Given the description of an element on the screen output the (x, y) to click on. 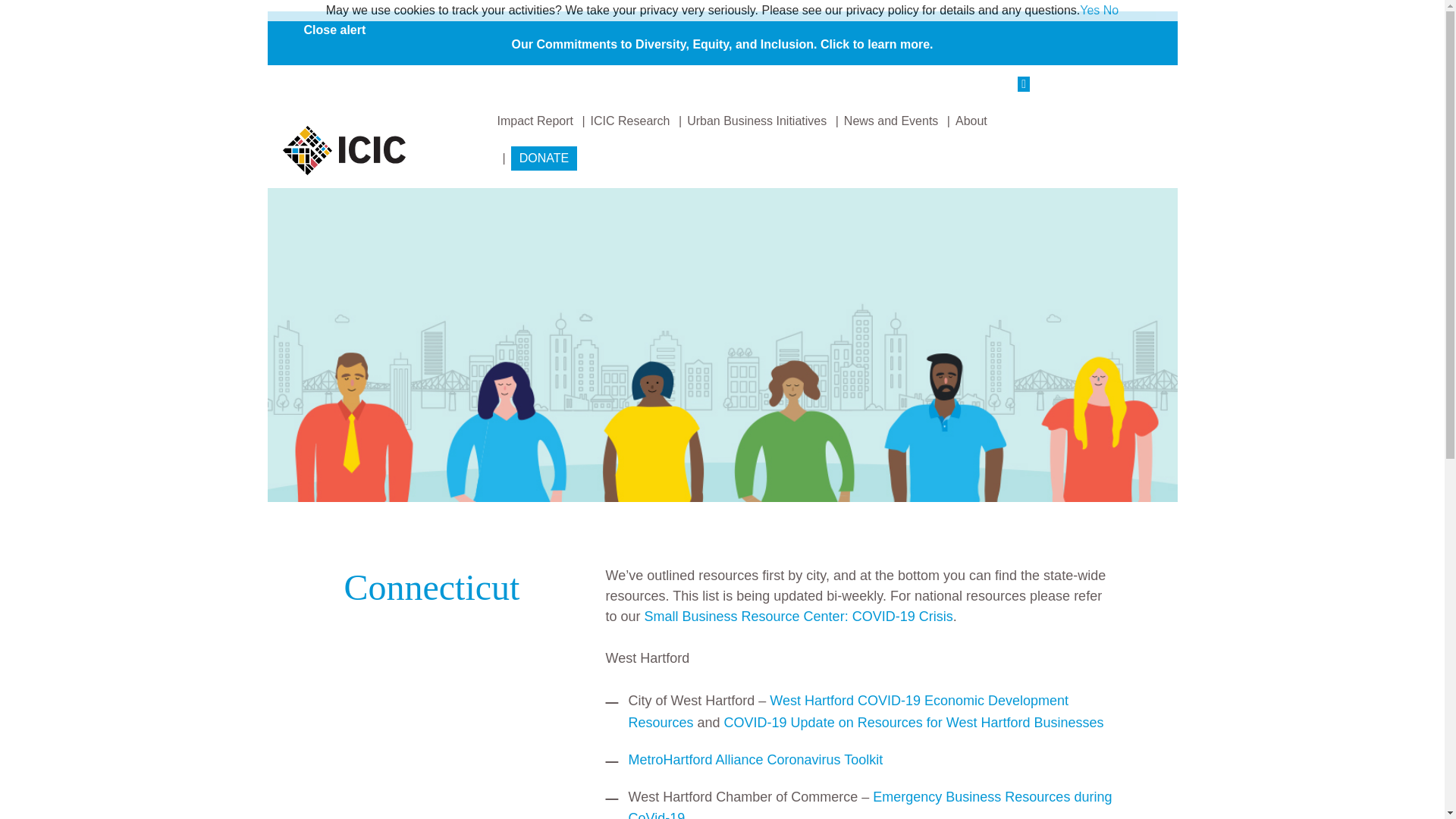
Impact Report (535, 120)
Urban Business Initiatives (757, 120)
Close alert (333, 29)
ICIC Research (630, 120)
